Given the description of an element on the screen output the (x, y) to click on. 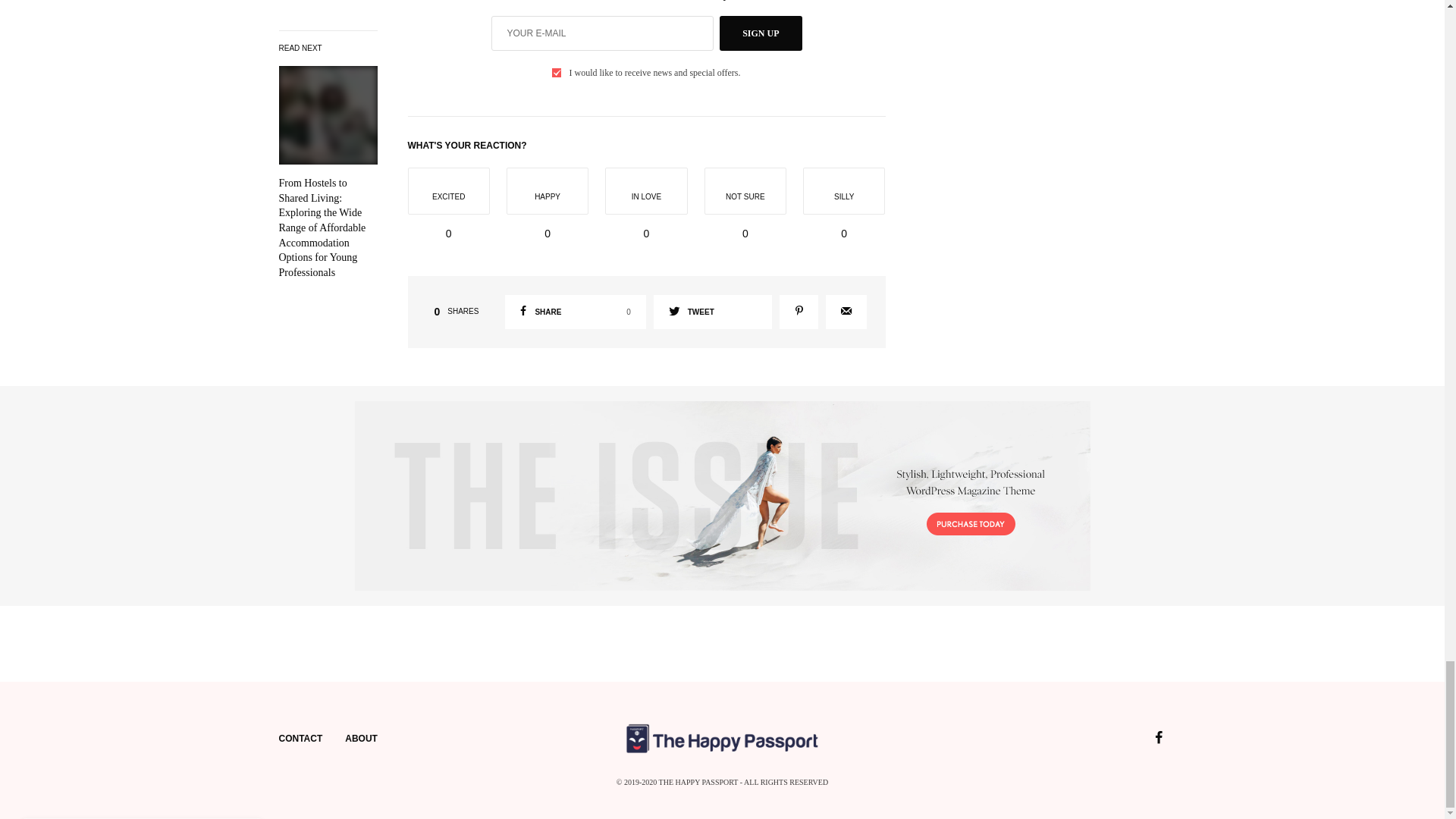
SIGN UP (575, 311)
The Happy Passport (760, 32)
